Given the description of an element on the screen output the (x, y) to click on. 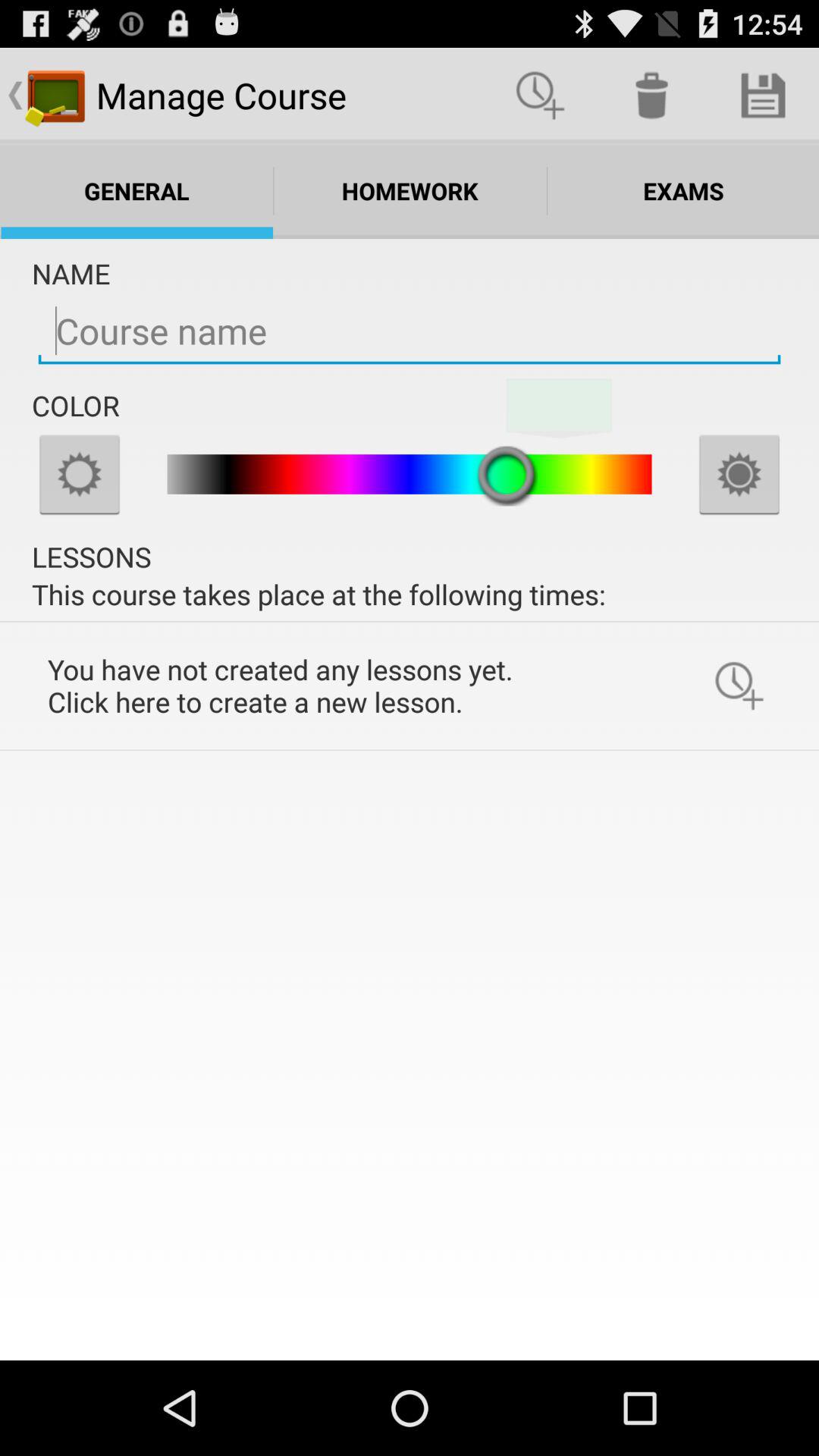
increase color brightness (739, 474)
